Given the description of an element on the screen output the (x, y) to click on. 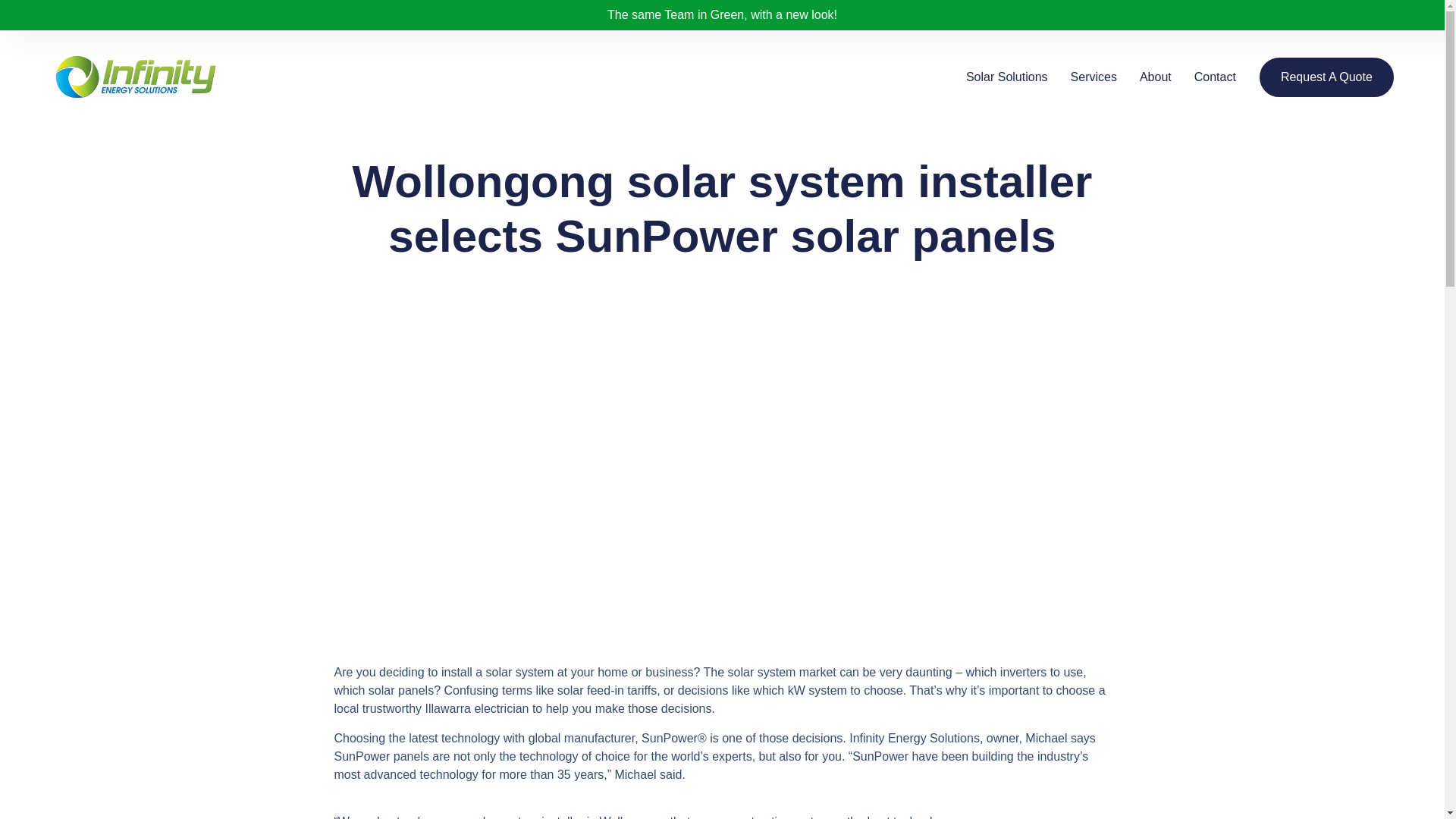
Request A Quote (1326, 77)
About (1156, 76)
Solar Solutions (1007, 76)
Contact (1214, 76)
Services (1093, 76)
